Given the description of an element on the screen output the (x, y) to click on. 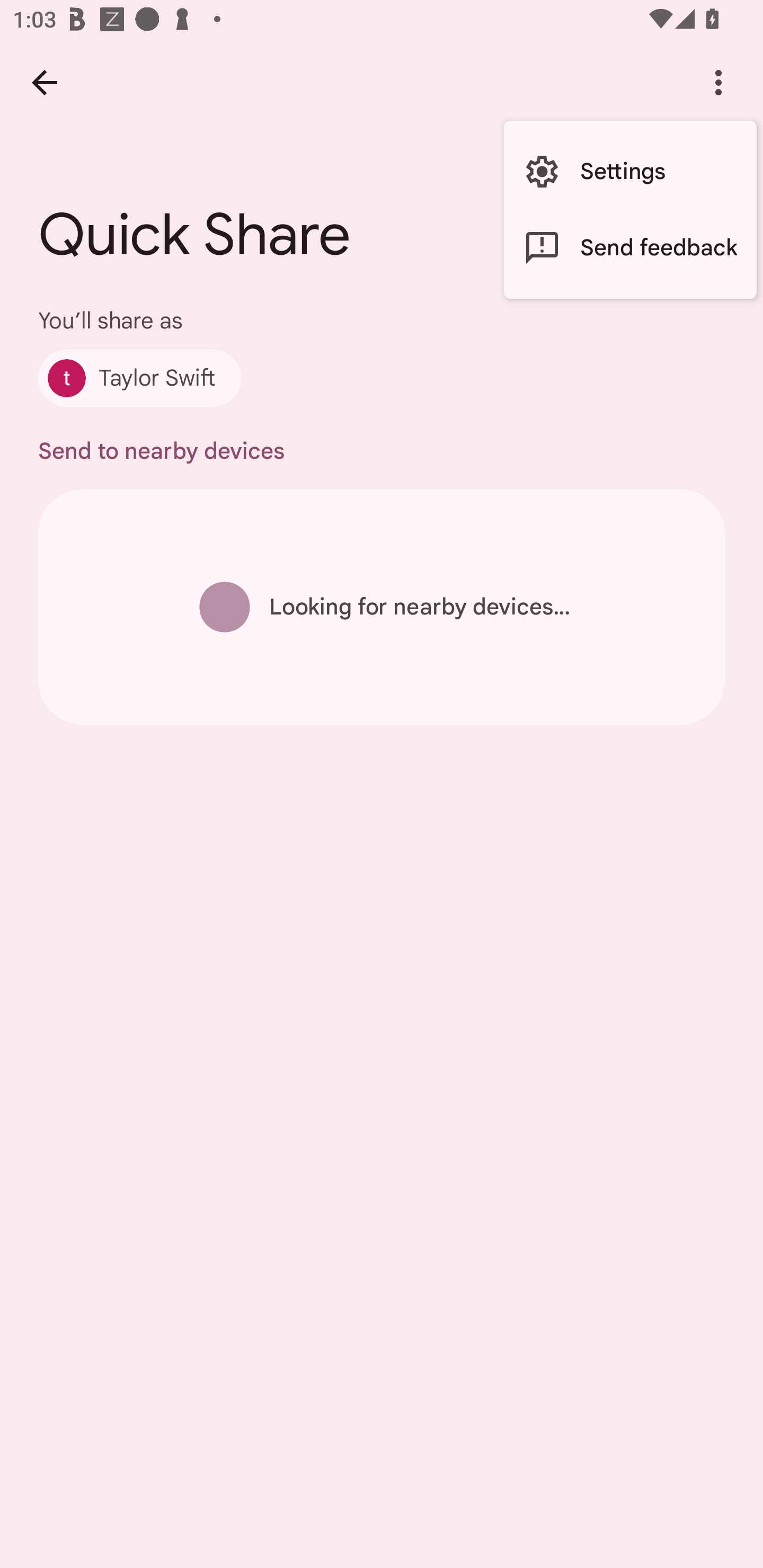
Settings (629, 171)
Send feedback (629, 247)
